Given the description of an element on the screen output the (x, y) to click on. 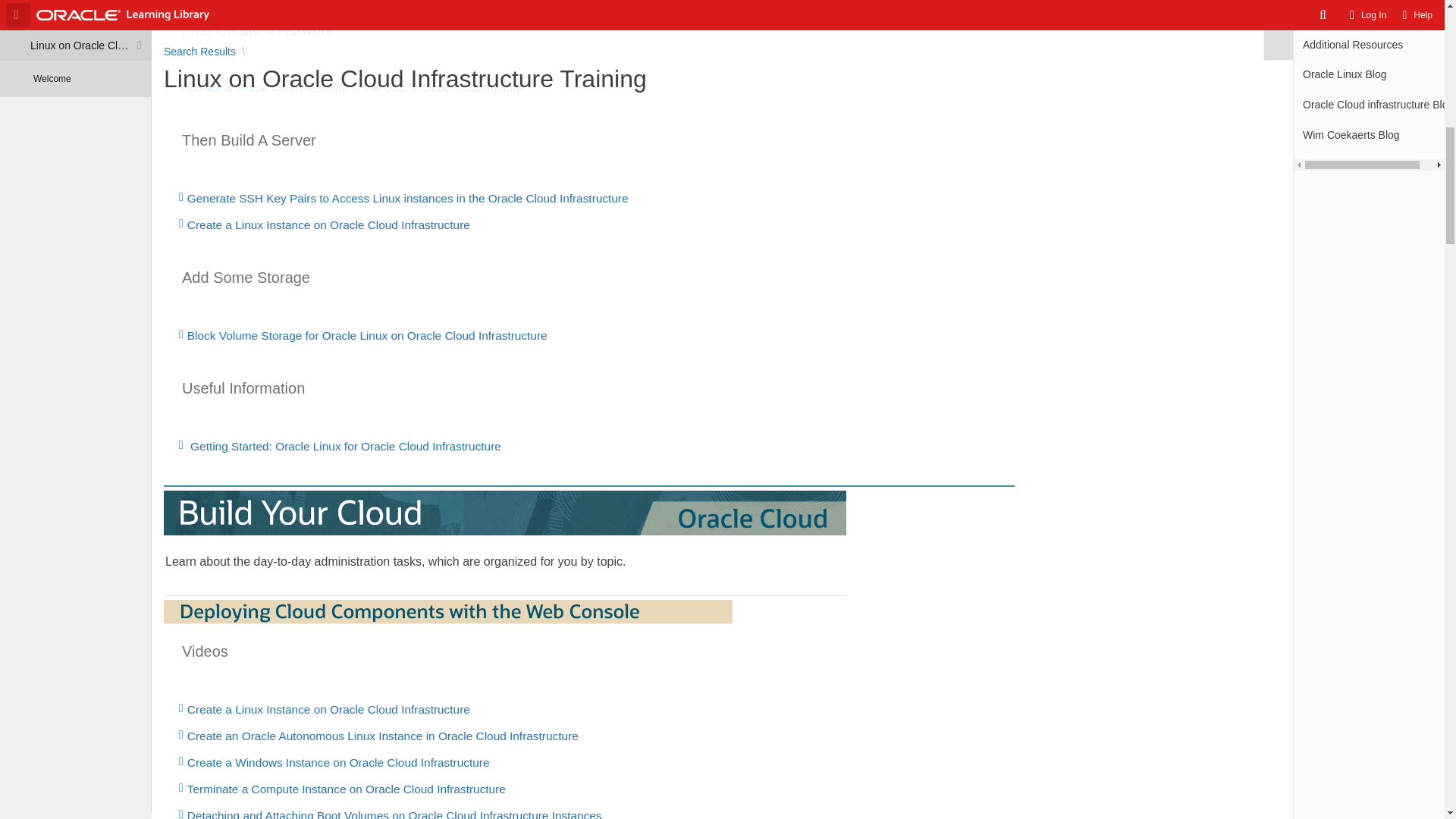
oll content (722, 225)
Video (183, 707)
Link (183, 444)
Video (183, 223)
Create a Windows Instance on Oracle Cloud Infrastructure (722, 762)
oll content (722, 198)
oll content (722, 335)
Terminate a Compute Instance on Oracle Cloud Infrastructure (722, 789)
oll content (722, 446)
oll content (722, 709)
Video (183, 196)
